Given the description of an element on the screen output the (x, y) to click on. 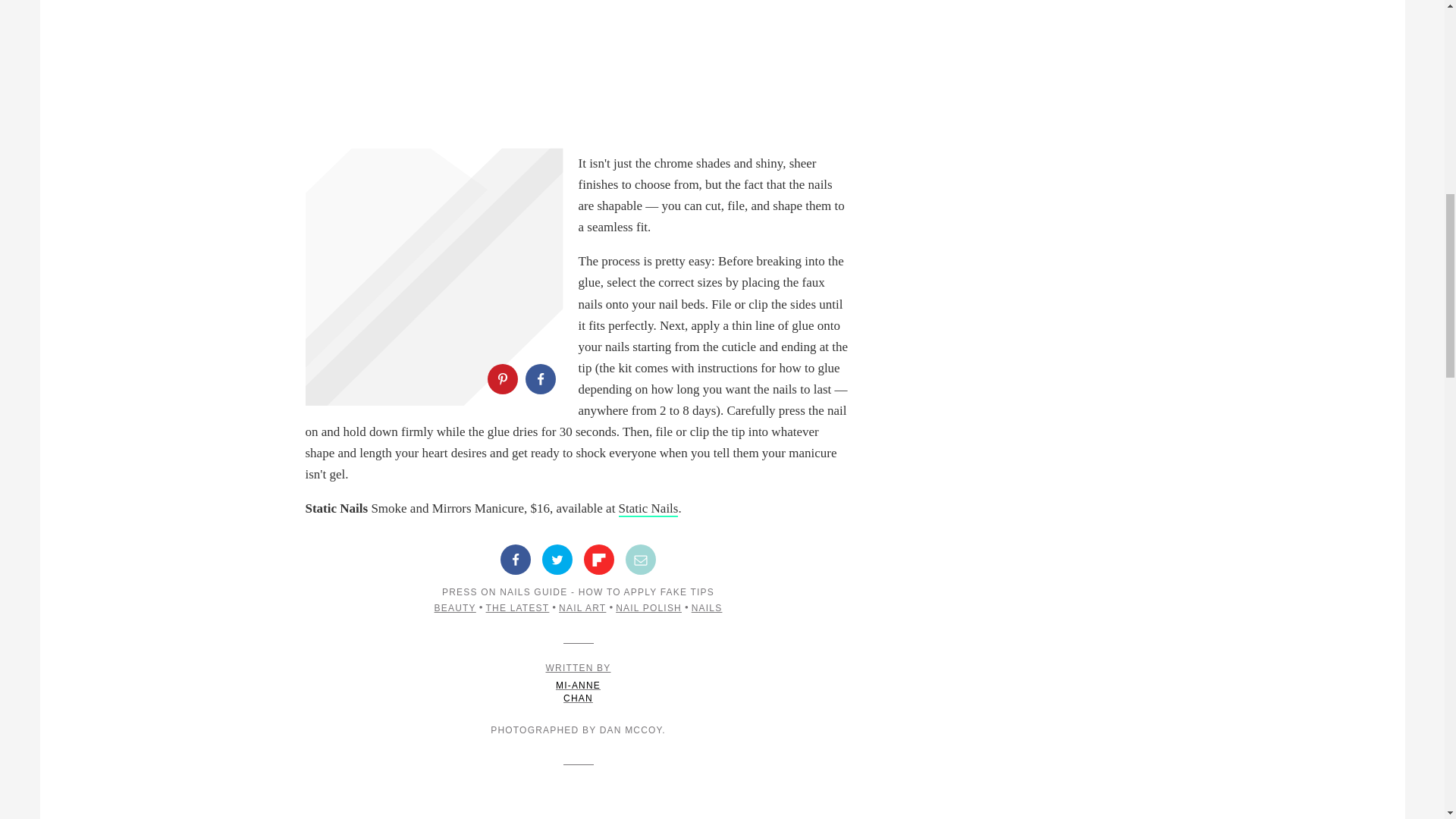
Share by Email (641, 559)
NAILS (706, 607)
BEAUTY (454, 607)
Share on Flipboard (598, 559)
Share on Pinterest (501, 378)
Static Nails (648, 508)
Share on Twitter (556, 559)
THE LATEST (577, 683)
NAIL ART (518, 607)
